Given the description of an element on the screen output the (x, y) to click on. 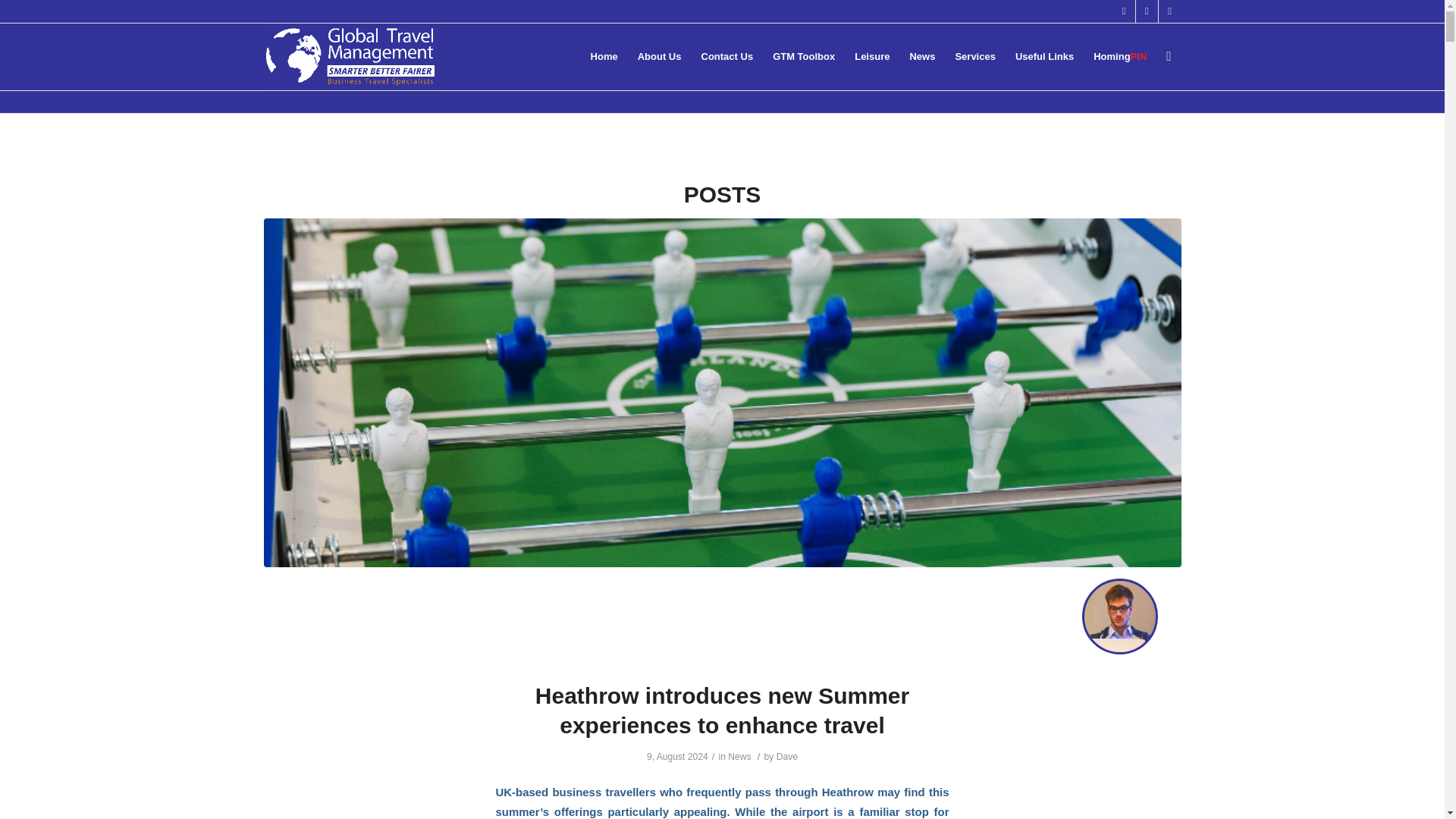
Useful Links (1044, 56)
About Us (659, 56)
GTM Toolbox (803, 56)
Services (975, 56)
GTM Toolbox (803, 56)
Contact Us (726, 56)
HomingPIN (1119, 56)
Posts by Dave (786, 756)
Twitter (1124, 11)
